Given the description of an element on the screen output the (x, y) to click on. 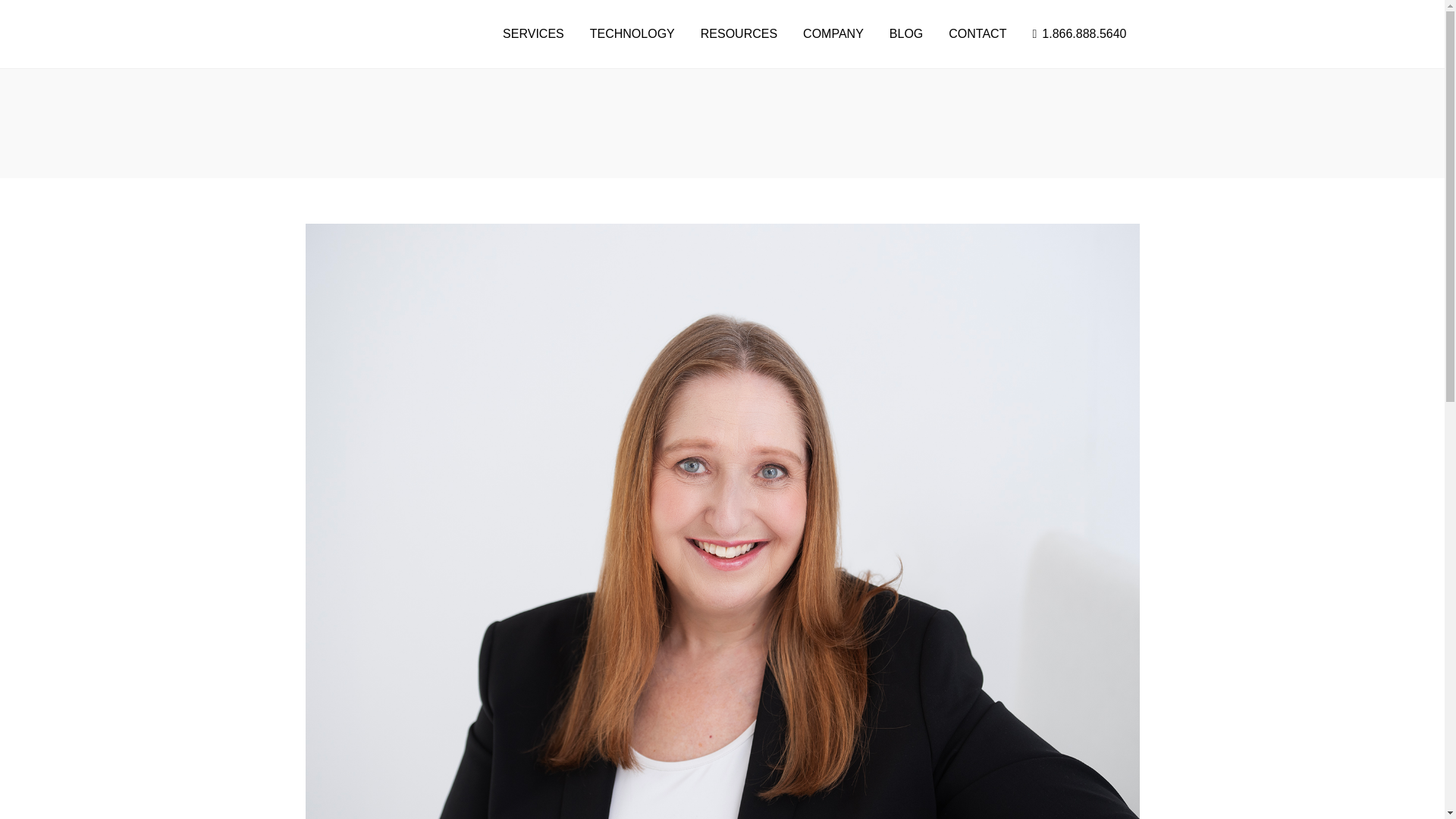
RESOURCES (738, 33)
COMPANY (833, 33)
TECHNOLOGY (632, 33)
1.866.888.5640 (1078, 33)
SERVICES (533, 33)
